Given the description of an element on the screen output the (x, y) to click on. 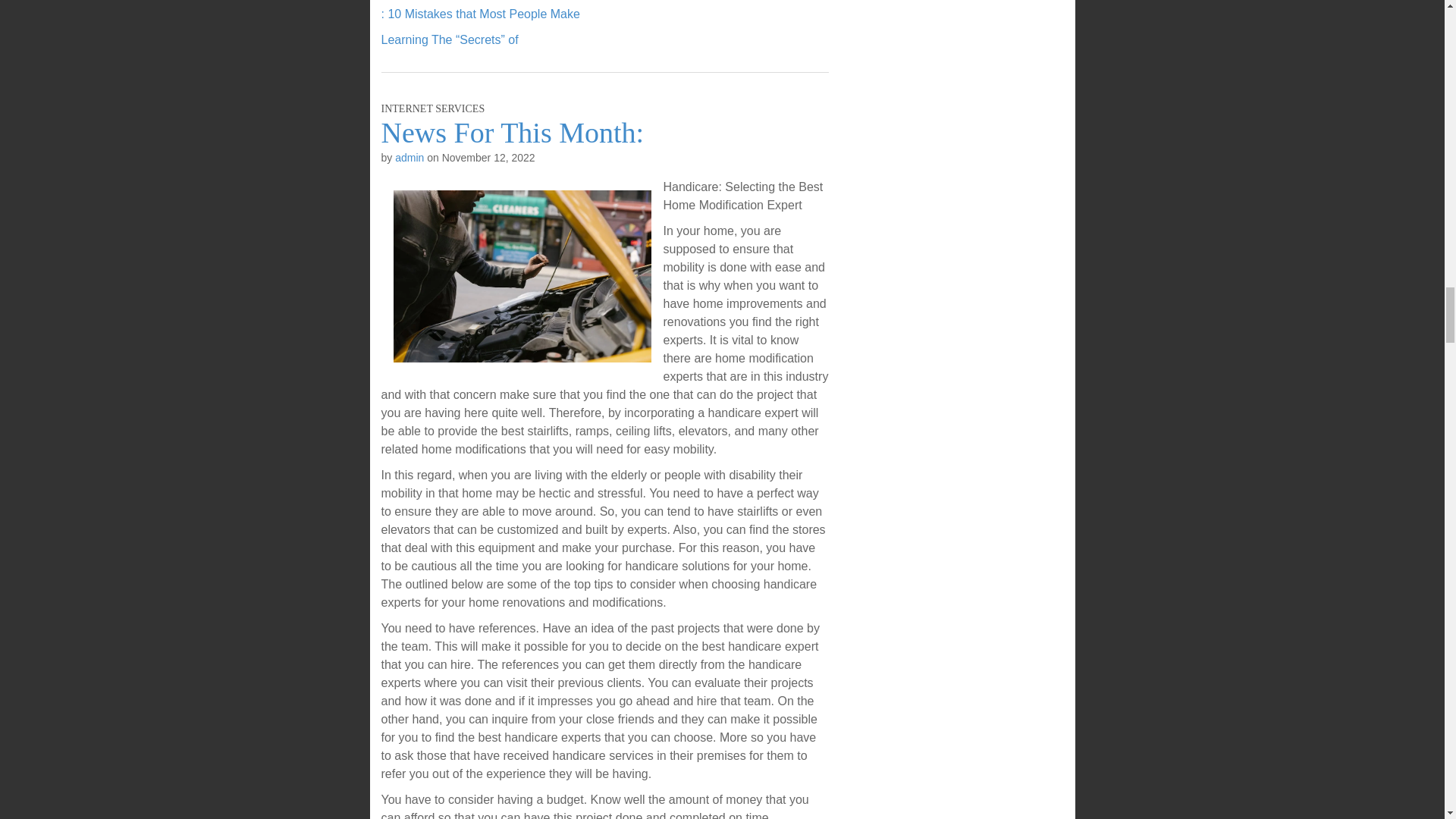
News For This Month: (511, 132)
Posts by admin (408, 157)
INTERNET SERVICES (432, 108)
November 12, 2022 (488, 157)
: 10 Mistakes that Most People Make (479, 13)
admin (408, 157)
